Given the description of an element on the screen output the (x, y) to click on. 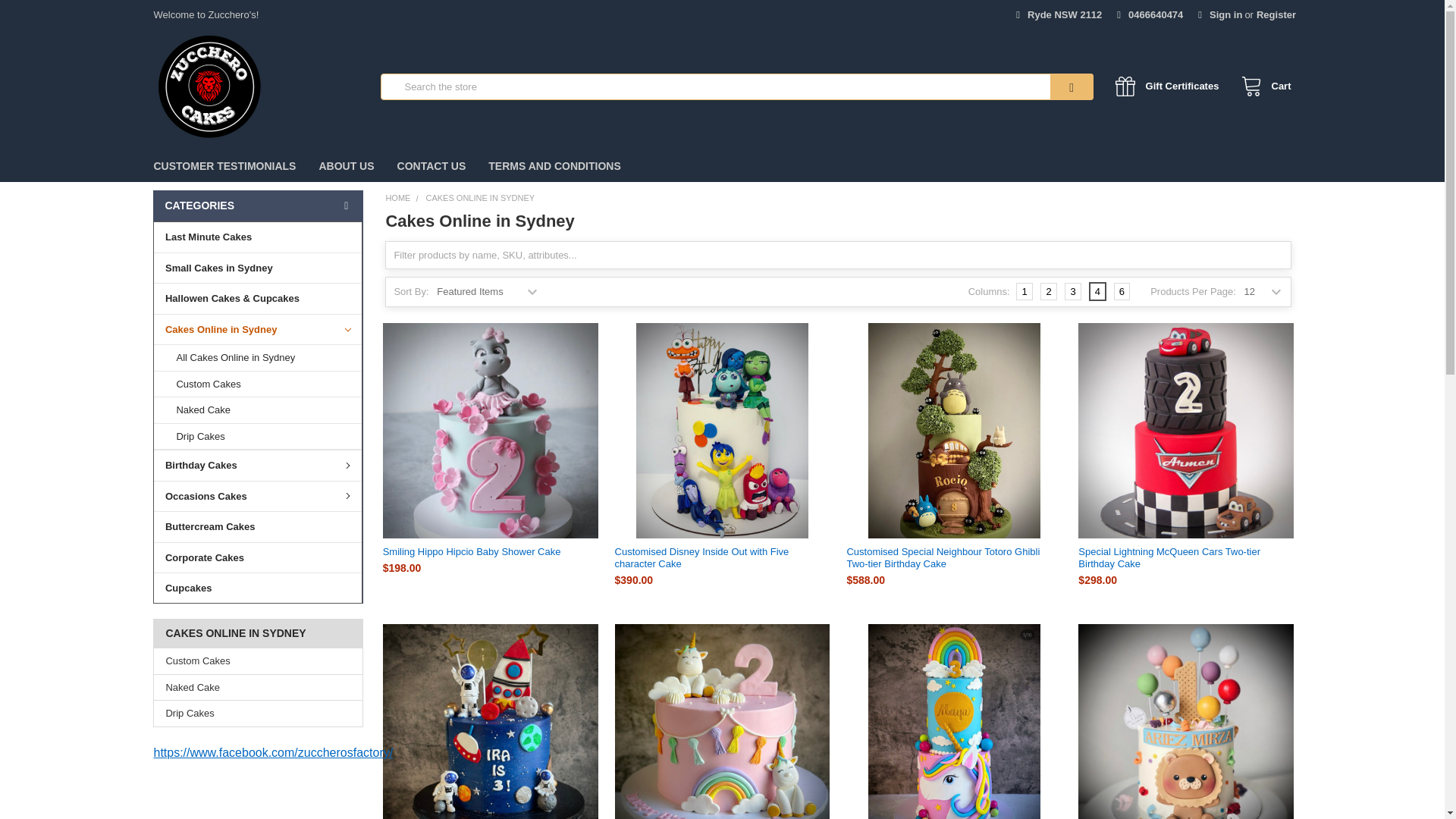
Cart (1262, 86)
2 (1049, 291)
Sign in (1220, 11)
Search (1049, 86)
Register (1275, 11)
Zucchero's (209, 86)
Smiling Hippo Hipcio Baby Shower Cake  (490, 430)
1 (1024, 291)
Custom Cakes (257, 661)
4 (1097, 291)
Customised Disney Inside Out with Five character Cake (721, 430)
Naked Cake (257, 687)
